Given the description of an element on the screen output the (x, y) to click on. 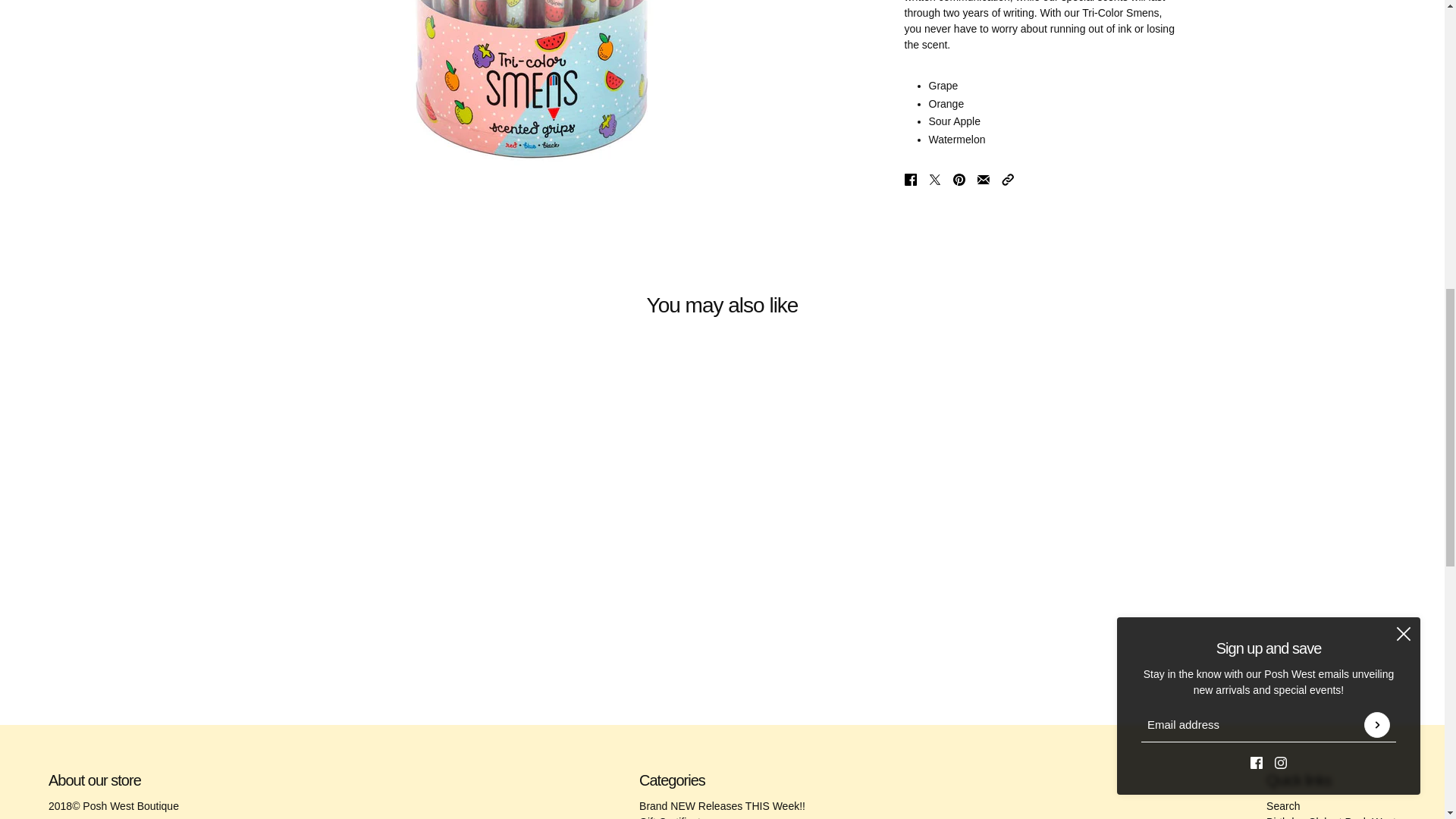
Gift Certificate (672, 817)
Birthday Club at Posh West (1331, 817)
Brand NEW Releases THIS Week!! (722, 806)
